Given the description of an element on the screen output the (x, y) to click on. 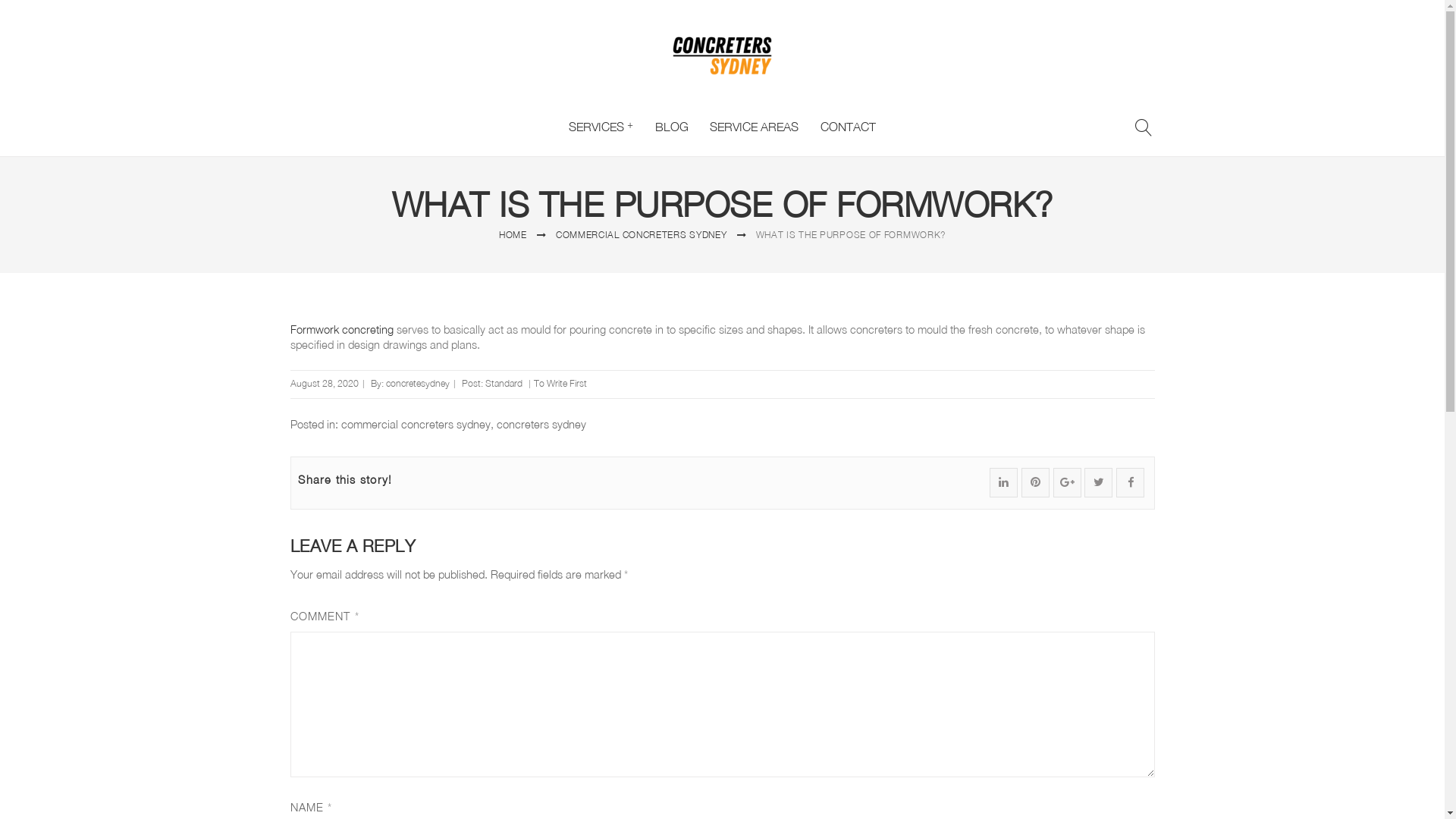
HOME Element type: text (512, 234)
Standard Element type: text (503, 383)
BLOG Element type: text (671, 126)
Formwork concreting Element type: text (340, 329)
Pin "What is the purpose of formwork?" on Pinterest Element type: text (1035, 482)
To Write First Element type: text (559, 383)
SERVICE AREAS Element type: text (754, 126)
August 28, 2020 Element type: text (323, 383)
Share "What is the purpose of formwork?" on Facebook Element type: text (1130, 482)
Share "What is the purpose of formwork?" on LinkedIn Element type: text (1003, 482)
Sydneys most reliable concreting company | Element type: hover (721, 55)
commercial concreters sydney Element type: text (415, 423)
Share "What is the purpose of formwork?" on Google Plus Element type: text (1067, 482)
CONTACT Element type: text (847, 126)
Post status "What is the purpose of formwork?" on Twitter Element type: text (1098, 482)
COMMERCIAL CONCRETERS SYDNEY Element type: text (641, 234)
SERVICES Element type: text (600, 126)
concretesydney Element type: text (416, 383)
concreters sydney Element type: text (540, 423)
